Given the description of an element on the screen output the (x, y) to click on. 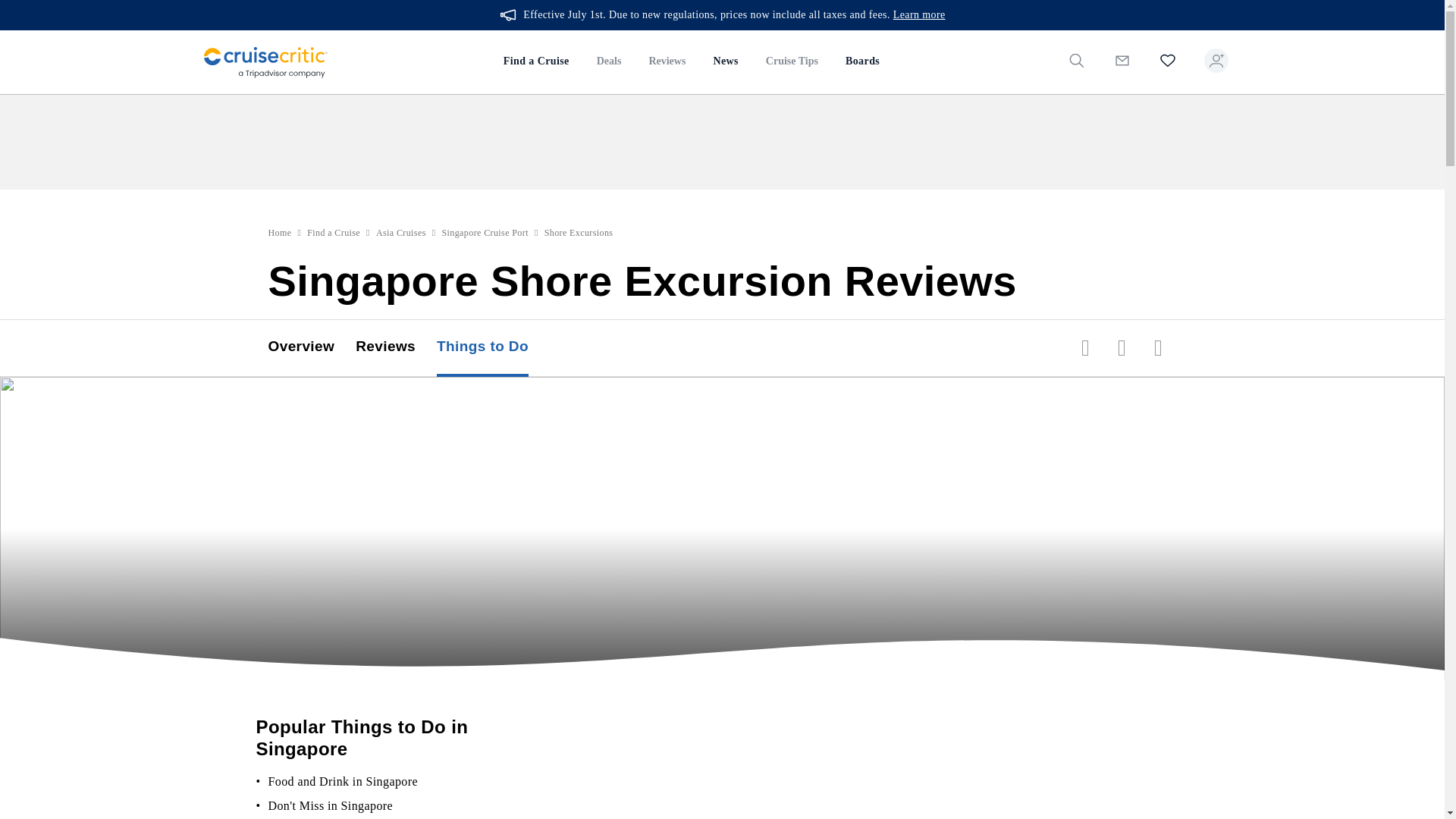
Home (279, 232)
Cruise Tips (791, 62)
Find a Cruise (536, 62)
Reviews (666, 62)
Reviews (395, 347)
Learn more (918, 15)
Boards (861, 62)
Things to Do (493, 347)
Shore Excursions (578, 232)
Don't Miss in Singapore (330, 805)
